Given the description of an element on the screen output the (x, y) to click on. 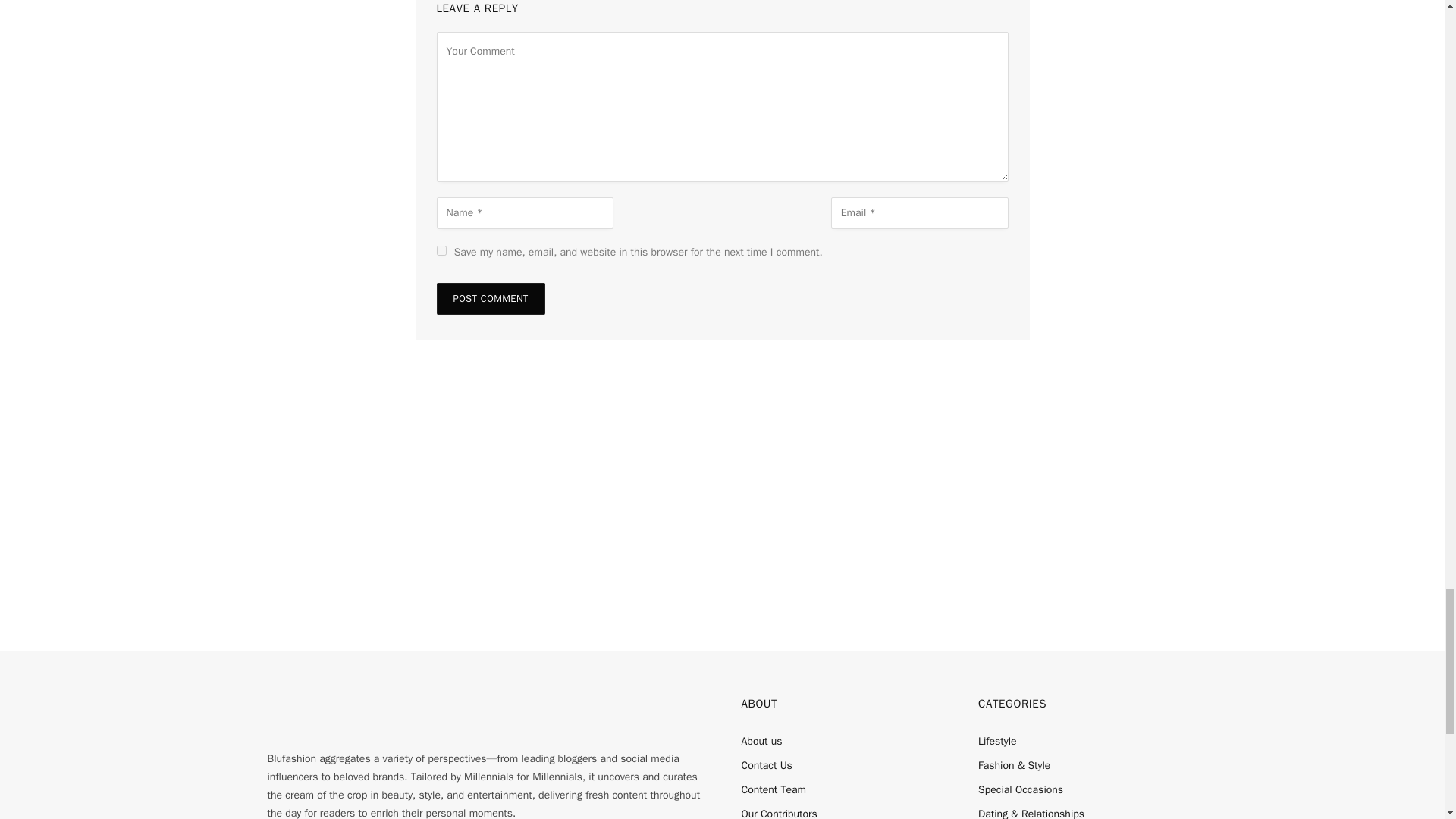
Post Comment (490, 298)
yes (441, 250)
